Given the description of an element on the screen output the (x, y) to click on. 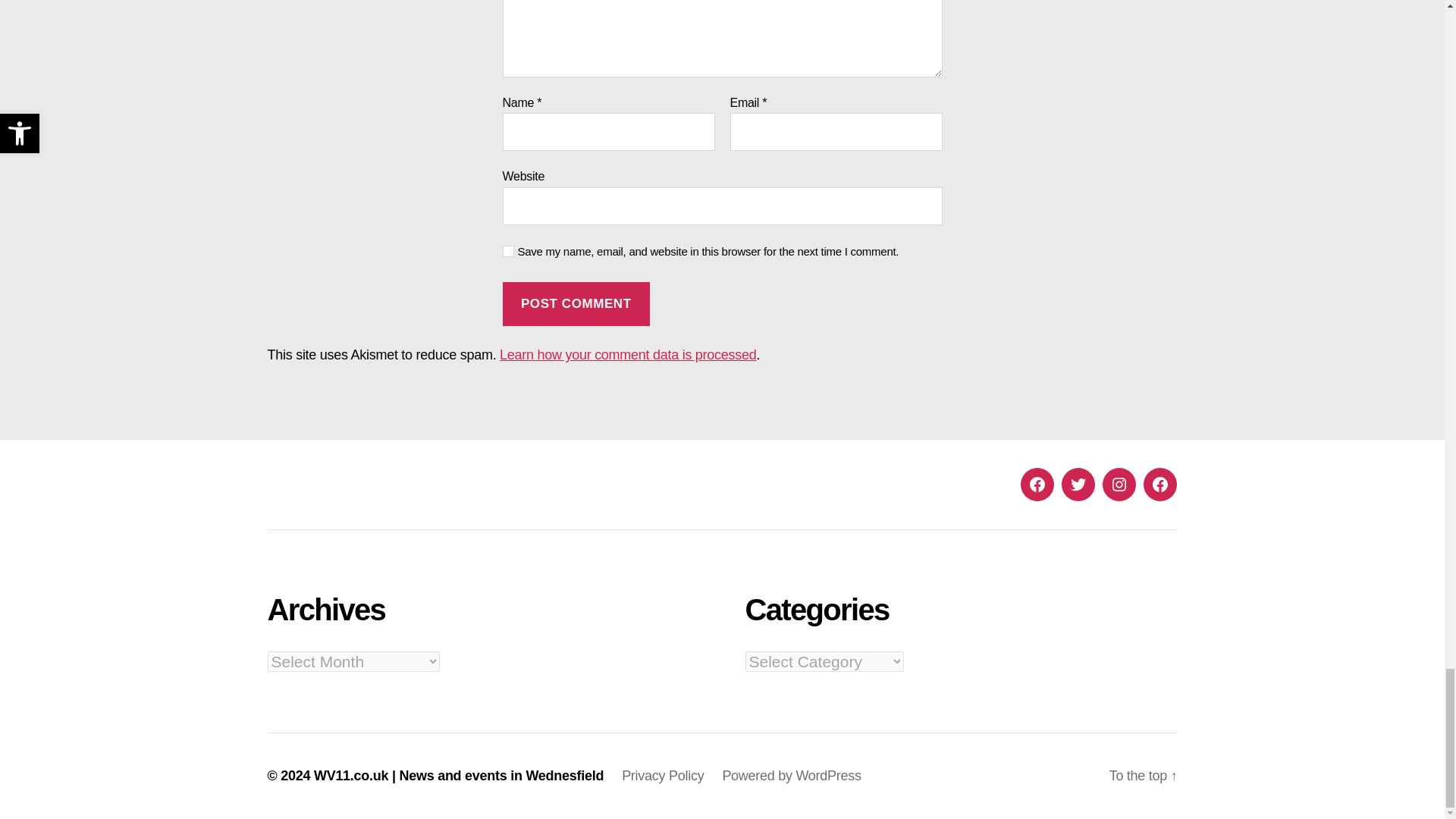
Post Comment (575, 303)
yes (507, 251)
